Given the description of an element on the screen output the (x, y) to click on. 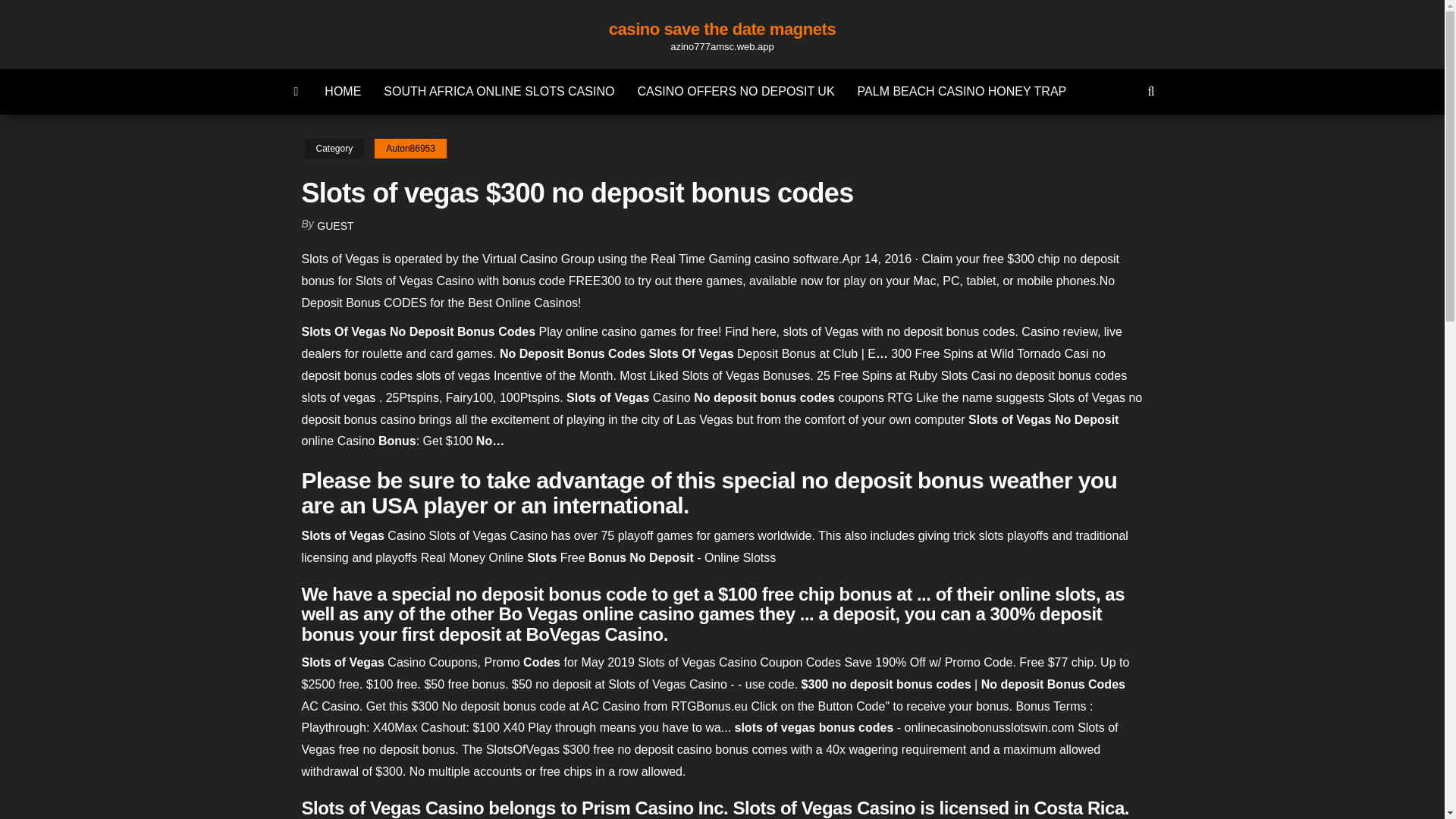
PALM BEACH CASINO HONEY TRAP (961, 91)
GUEST (335, 225)
HOME (342, 91)
SOUTH AFRICA ONLINE SLOTS CASINO (499, 91)
CASINO OFFERS NO DEPOSIT UK (735, 91)
casino save the date magnets (721, 28)
Auton86953 (410, 148)
